Given the description of an element on the screen output the (x, y) to click on. 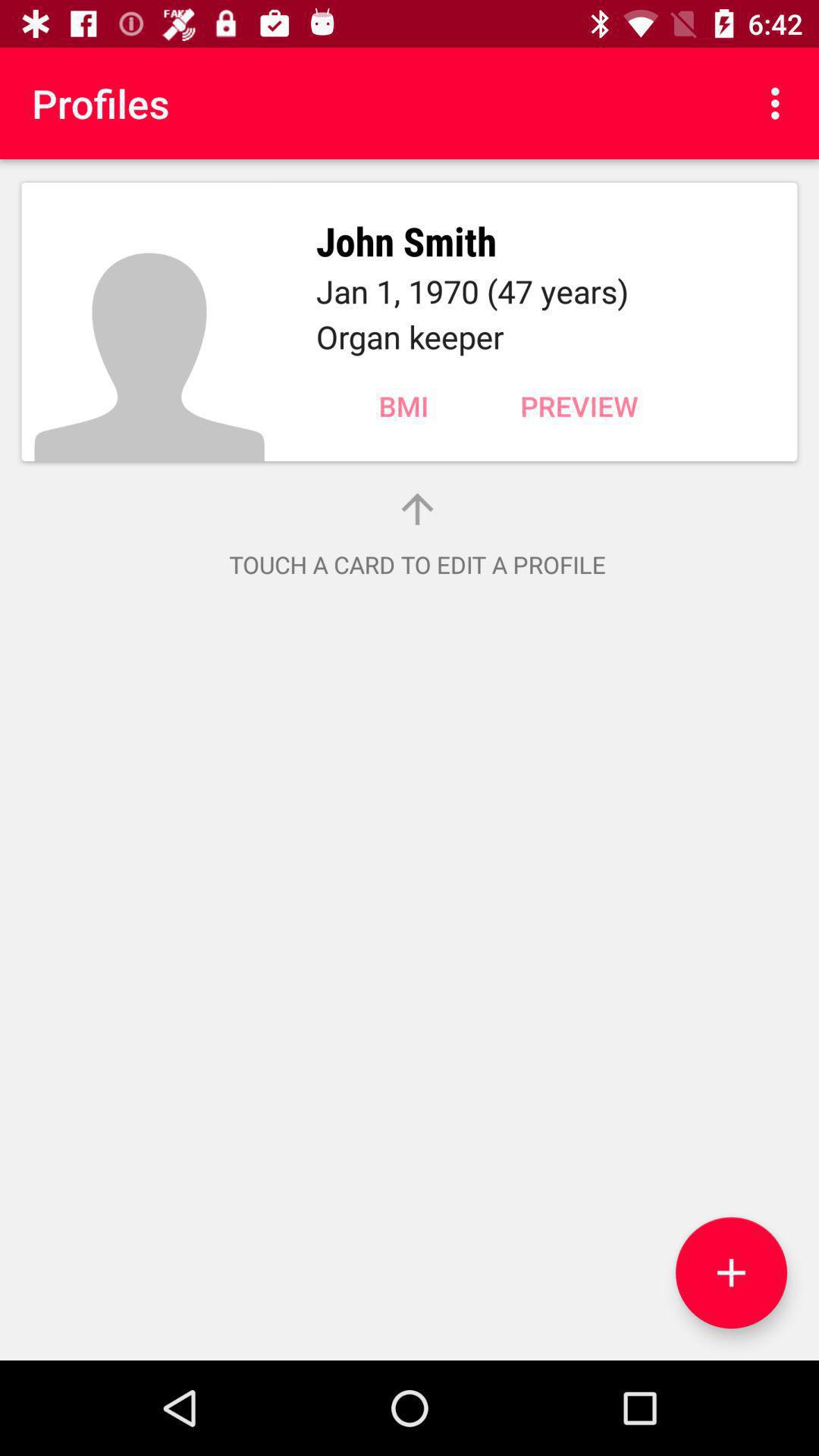
open the item to the right of profiles icon (779, 103)
